Given the description of an element on the screen output the (x, y) to click on. 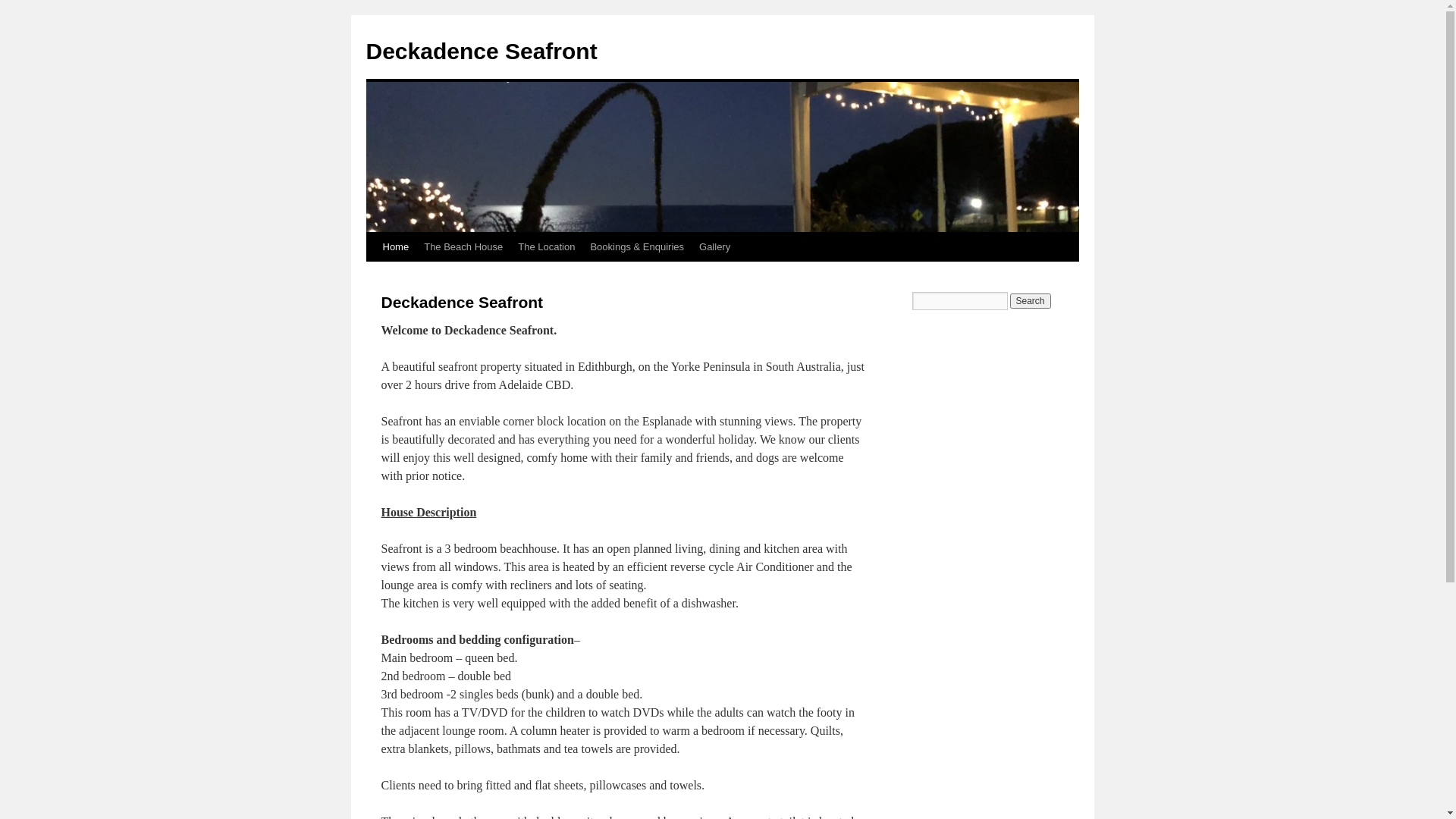
Gallery Element type: text (714, 246)
Deckadence Seafront Element type: text (480, 50)
The Location Element type: text (546, 246)
Search Element type: text (1030, 300)
Home Element type: text (395, 246)
The Beach House Element type: text (463, 246)
Bookings & Enquiries Element type: text (636, 246)
